Given the description of an element on the screen output the (x, y) to click on. 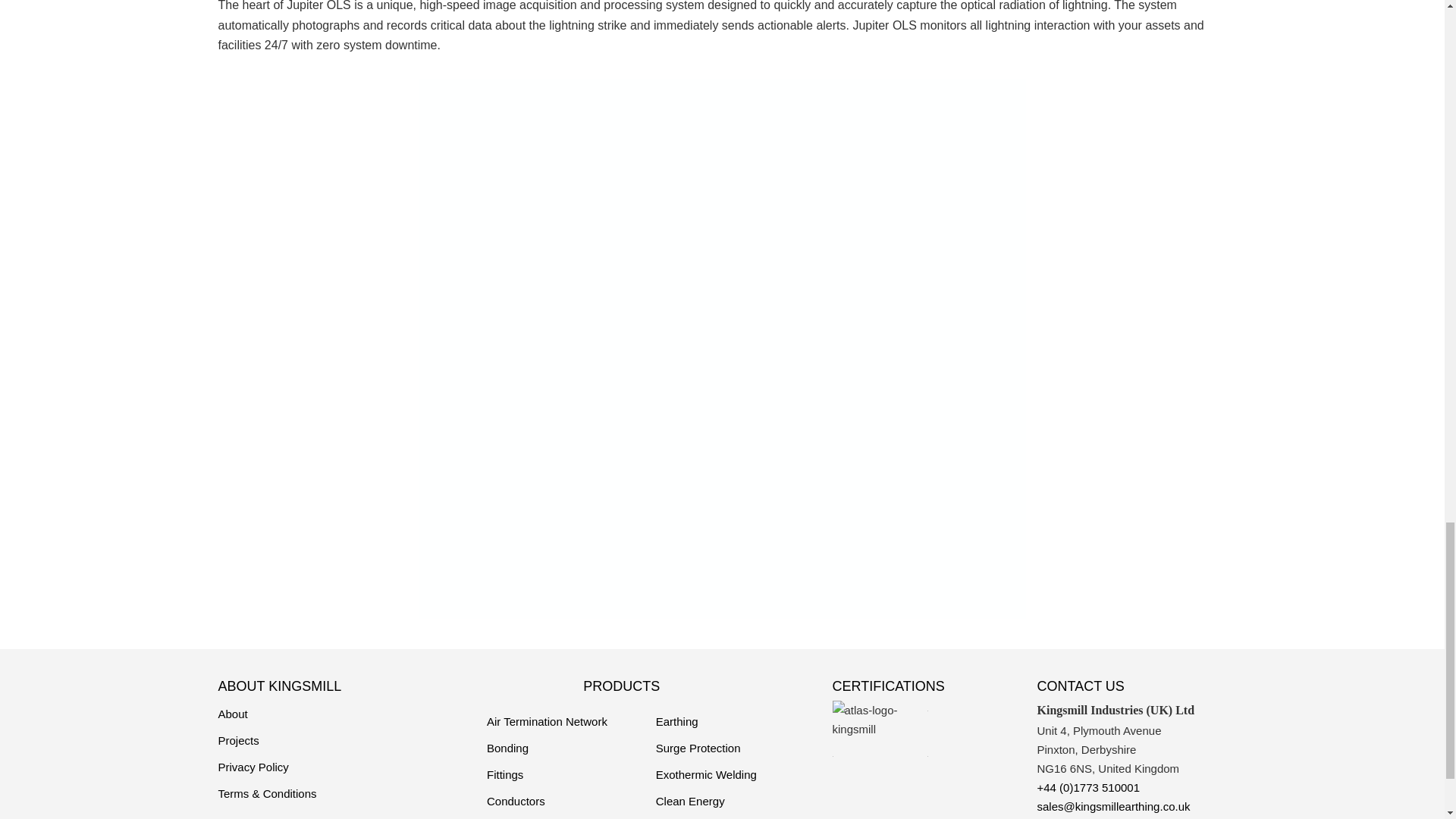
atlas-logo-kingsmill (879, 719)
